Given the description of an element on the screen output the (x, y) to click on. 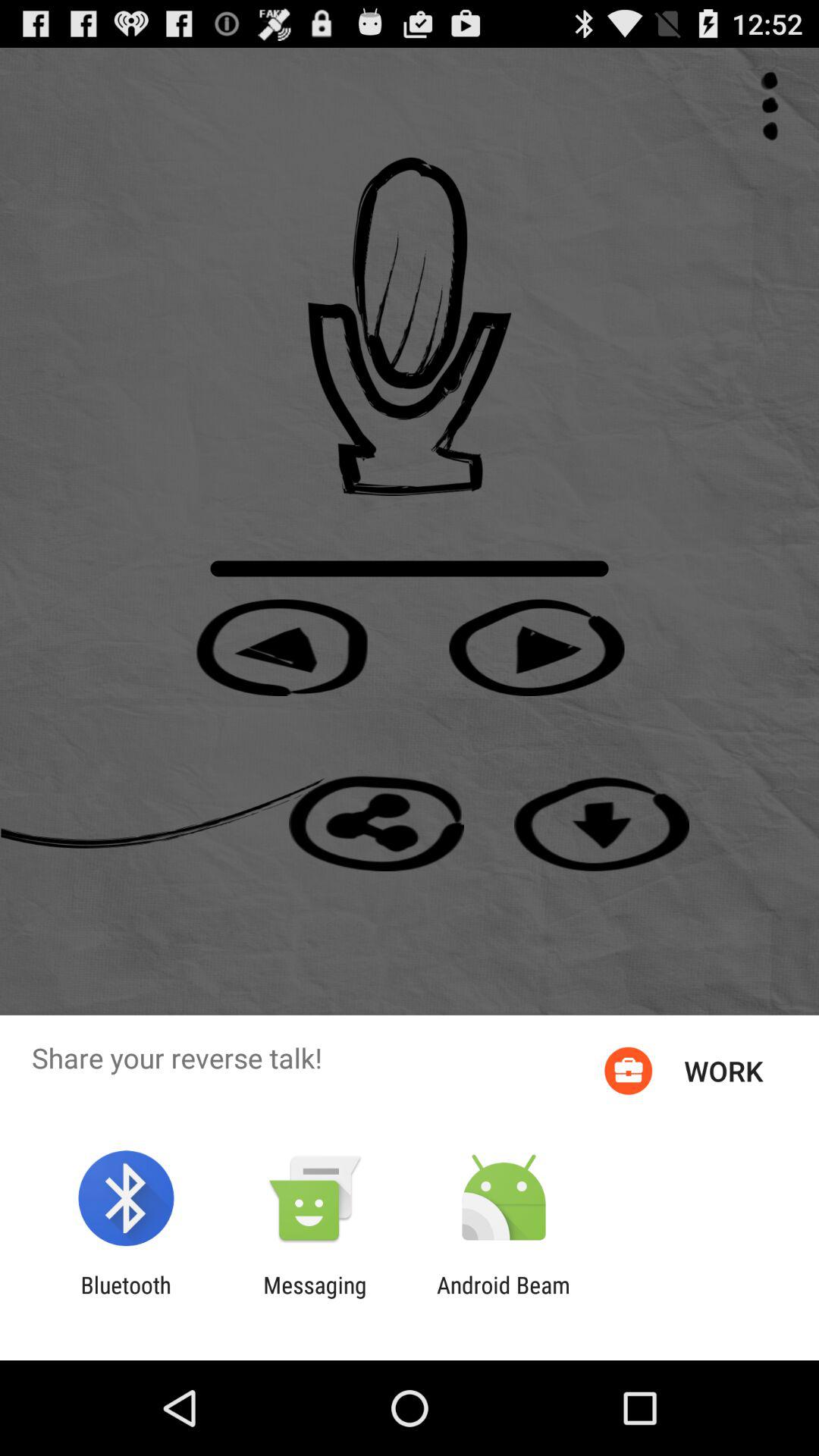
turn off icon next to the messaging icon (503, 1298)
